Given the description of an element on the screen output the (x, y) to click on. 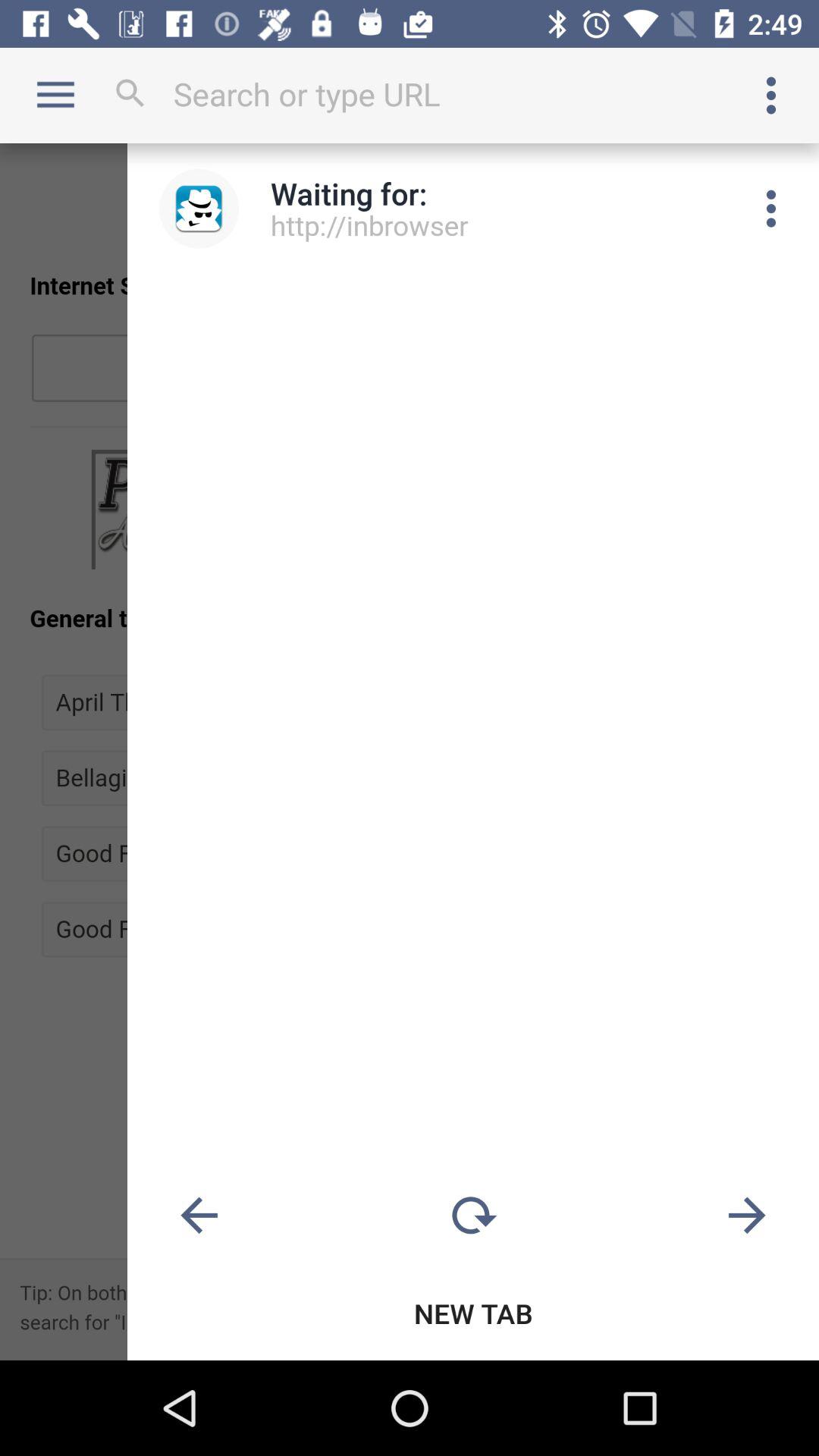
open share settings (771, 208)
